Given the description of an element on the screen output the (x, y) to click on. 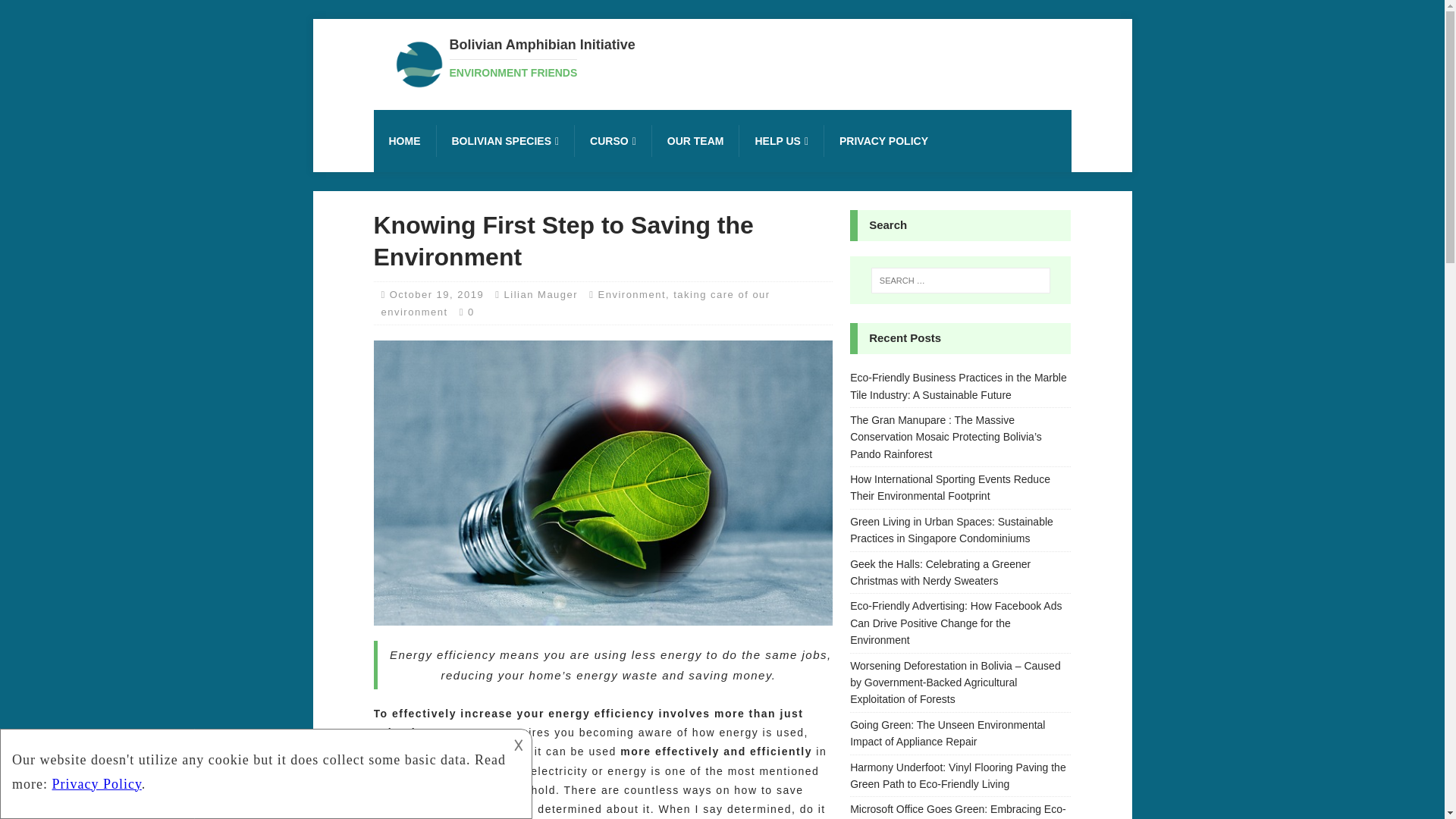
HOME (403, 141)
Environment (631, 294)
description (264, 771)
PRIVACY POLICY (883, 141)
Lilian Mauger (540, 294)
CURSO (611, 141)
Bolivian Amphibian Initiative (541, 57)
October 19, 2019 (436, 294)
HELP US (781, 141)
BOLIVIAN SPECIES (504, 141)
OUR TEAM (541, 57)
taking care of our environment (694, 141)
